Given the description of an element on the screen output the (x, y) to click on. 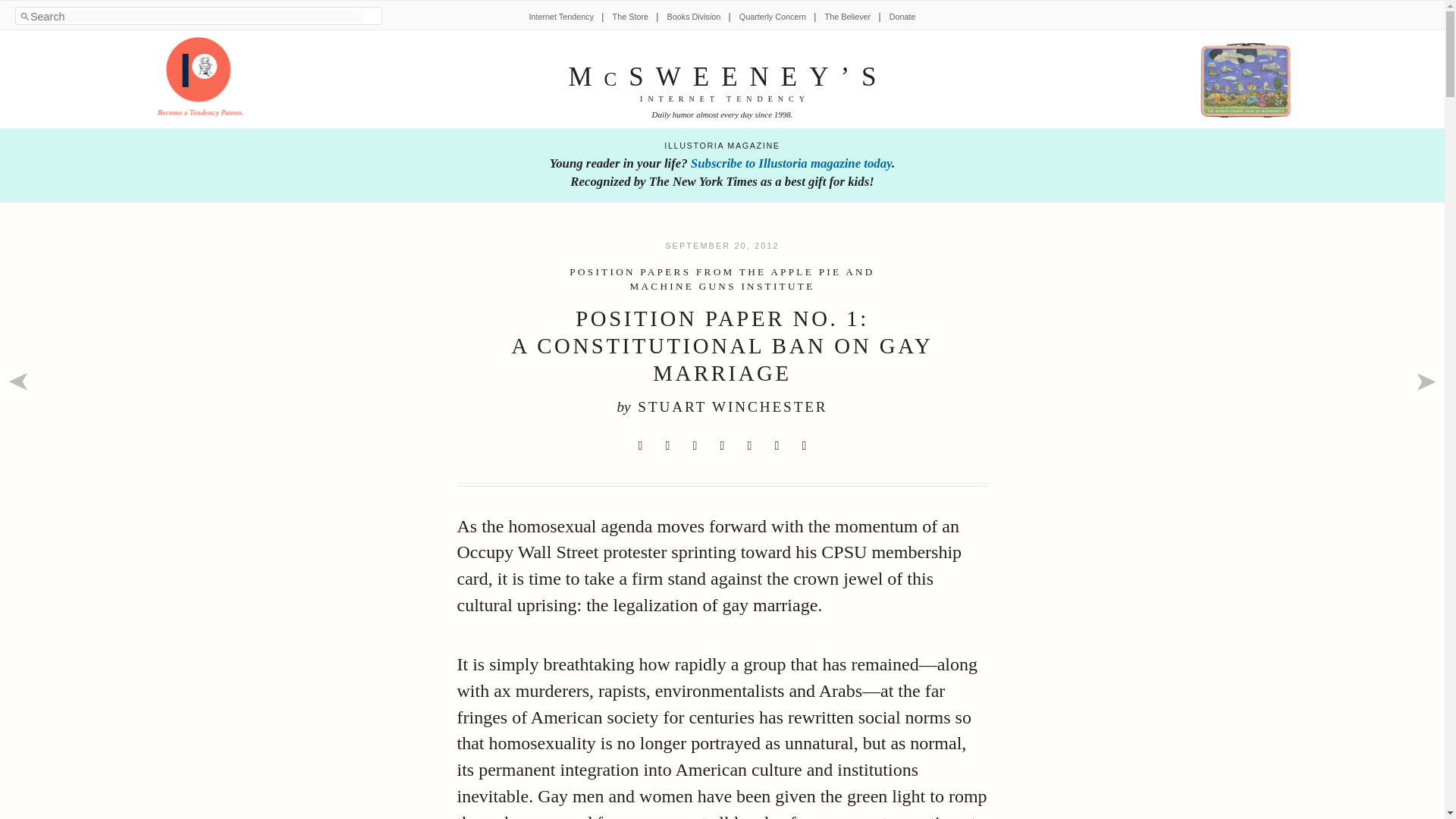
Subscribe to Illustoria magazine today (790, 163)
Share to Email (777, 445)
Share to Threads (749, 445)
STUART WINCHESTER (732, 406)
Donate (902, 16)
Quarterly Concern (772, 16)
Share to Bluesky (722, 445)
Internet Tendency (561, 16)
Share to Facebook (667, 445)
Share to X (640, 445)
Copy to Clipboard (804, 445)
The Believer (847, 16)
Share to Reddit (695, 445)
The Store (629, 16)
